Given the description of an element on the screen output the (x, y) to click on. 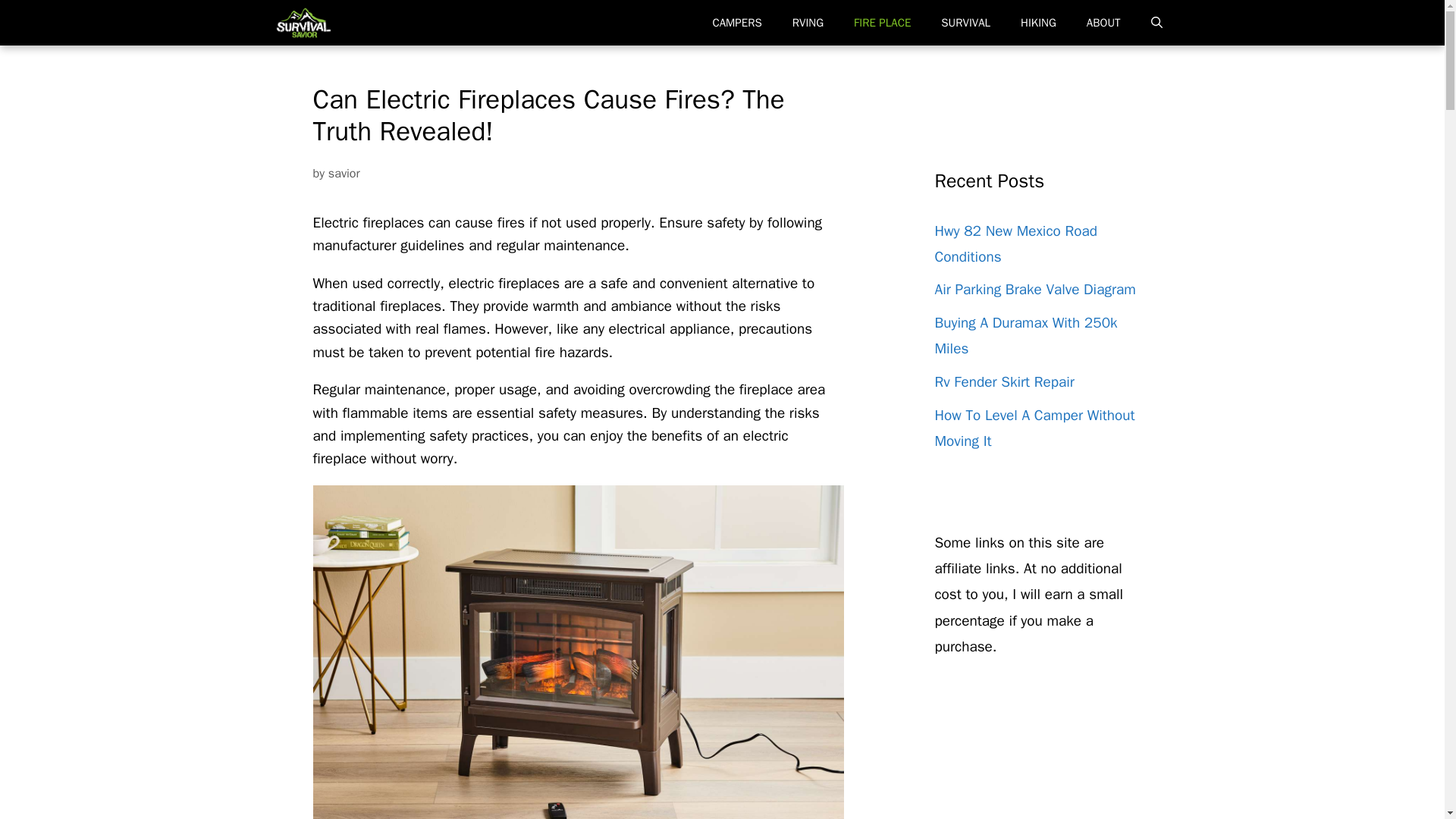
How To Level A Camper Without Moving It (1034, 428)
Buying A Duramax With 250k Miles (1025, 335)
ABOUT (1103, 22)
Survival Savior (302, 22)
HIKING (1038, 22)
RVING (807, 22)
Hwy 82 New Mexico Road Conditions (1015, 243)
Rv Fender Skirt Repair (1004, 382)
CAMPERS (736, 22)
SURVIVAL (966, 22)
